Given the description of an element on the screen output the (x, y) to click on. 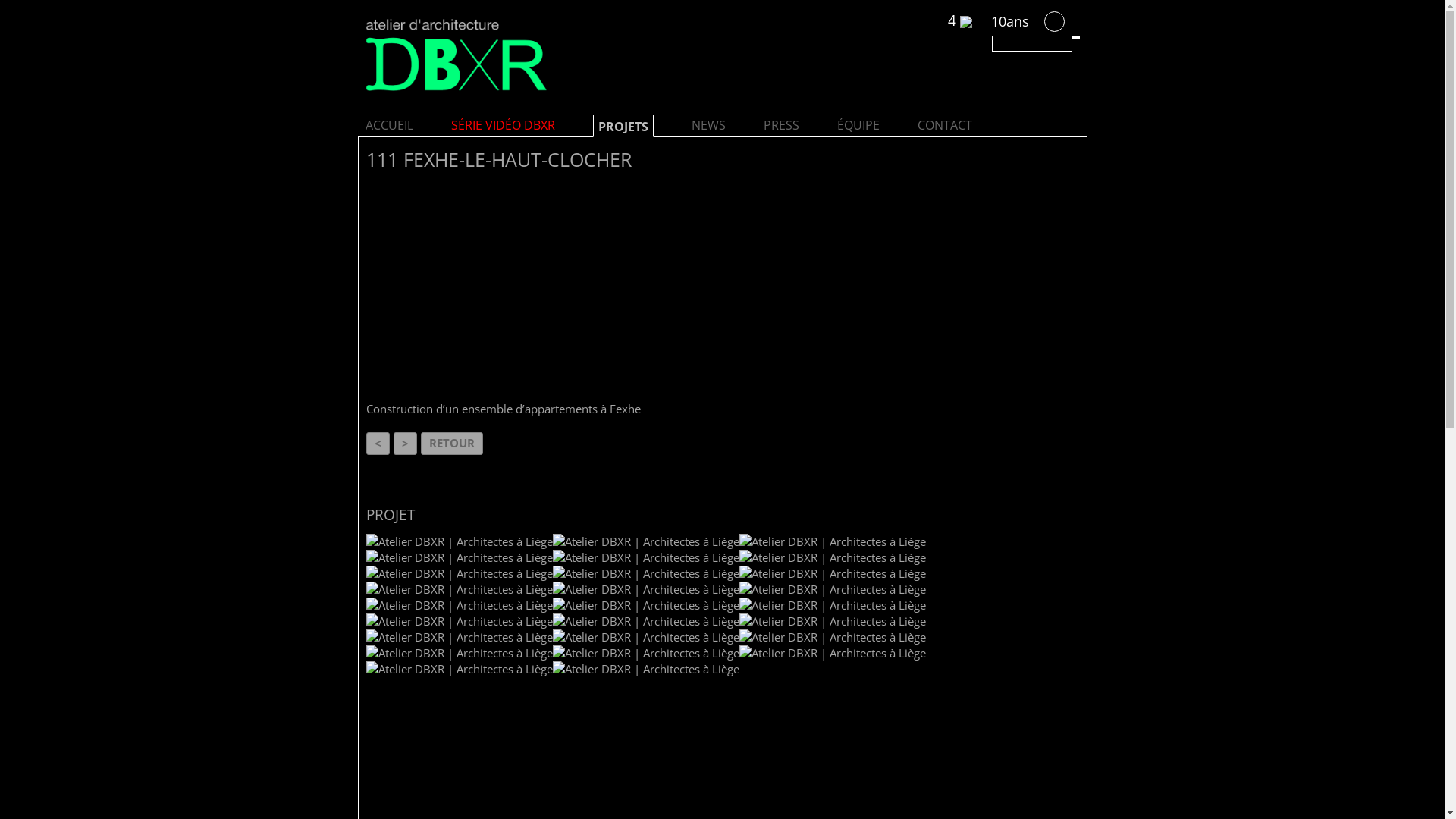
CONTACT Element type: text (944, 125)
NEWS Element type: text (708, 125)
ACCUEIL Element type: text (389, 125)
> Element type: text (404, 443)
RETOUR Element type: text (451, 443)
< Element type: text (377, 443)
PRESS Element type: text (780, 125)
PROJETS Element type: text (622, 126)
4 Element type: text (959, 20)
